Given the description of an element on the screen output the (x, y) to click on. 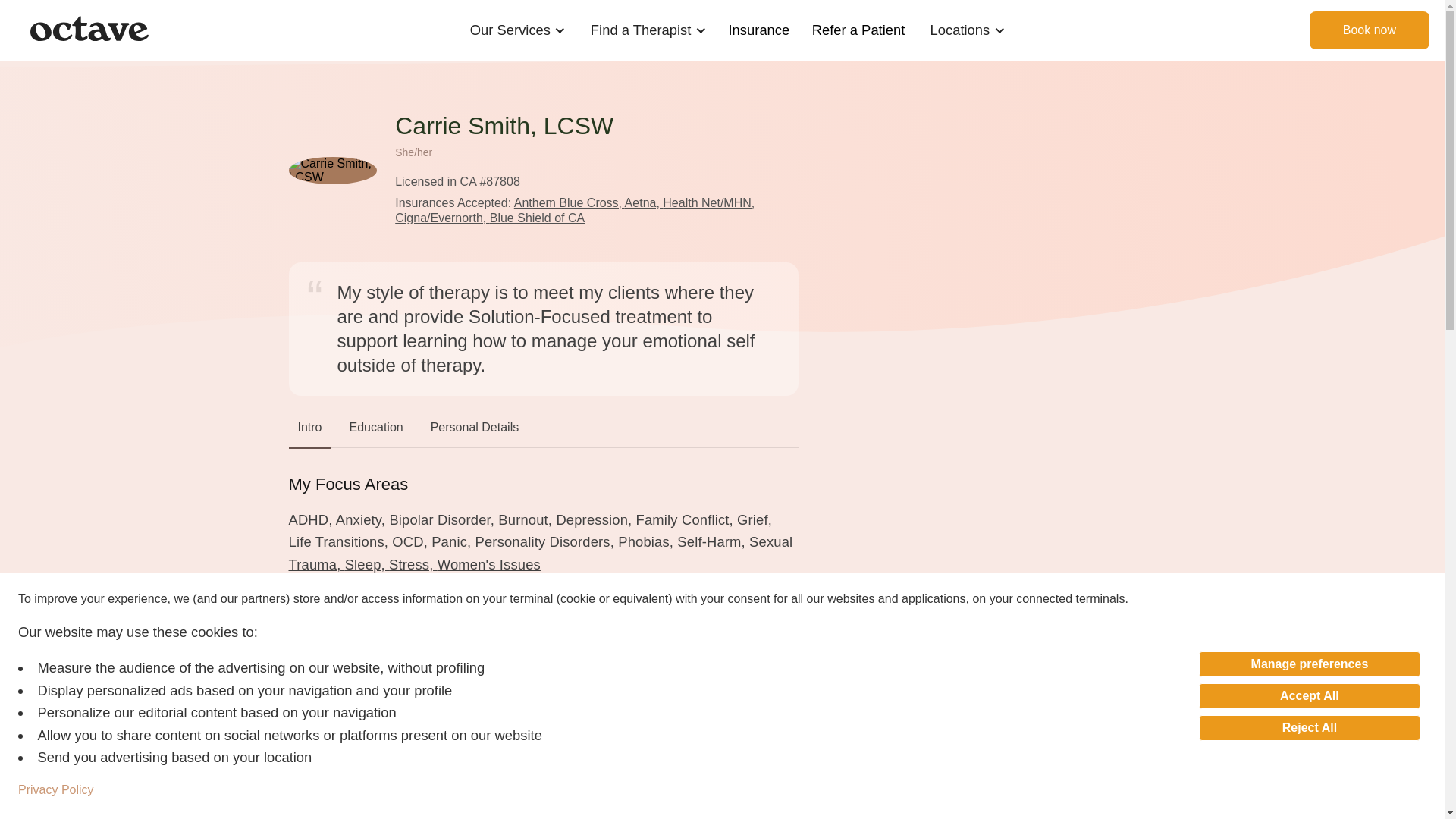
Intro (309, 431)
Personal Details (475, 430)
ADHD, (311, 519)
Insurance (758, 29)
Bipolar Disorder, (442, 519)
Personality Disorders, (547, 541)
Aetna, (643, 202)
Burnout, (526, 519)
Accept All (1309, 696)
Grief, (753, 519)
Our Services (509, 29)
Privacy Policy (55, 789)
OCD, (410, 541)
Education (376, 430)
Manage preferences (1309, 664)
